Given the description of an element on the screen output the (x, y) to click on. 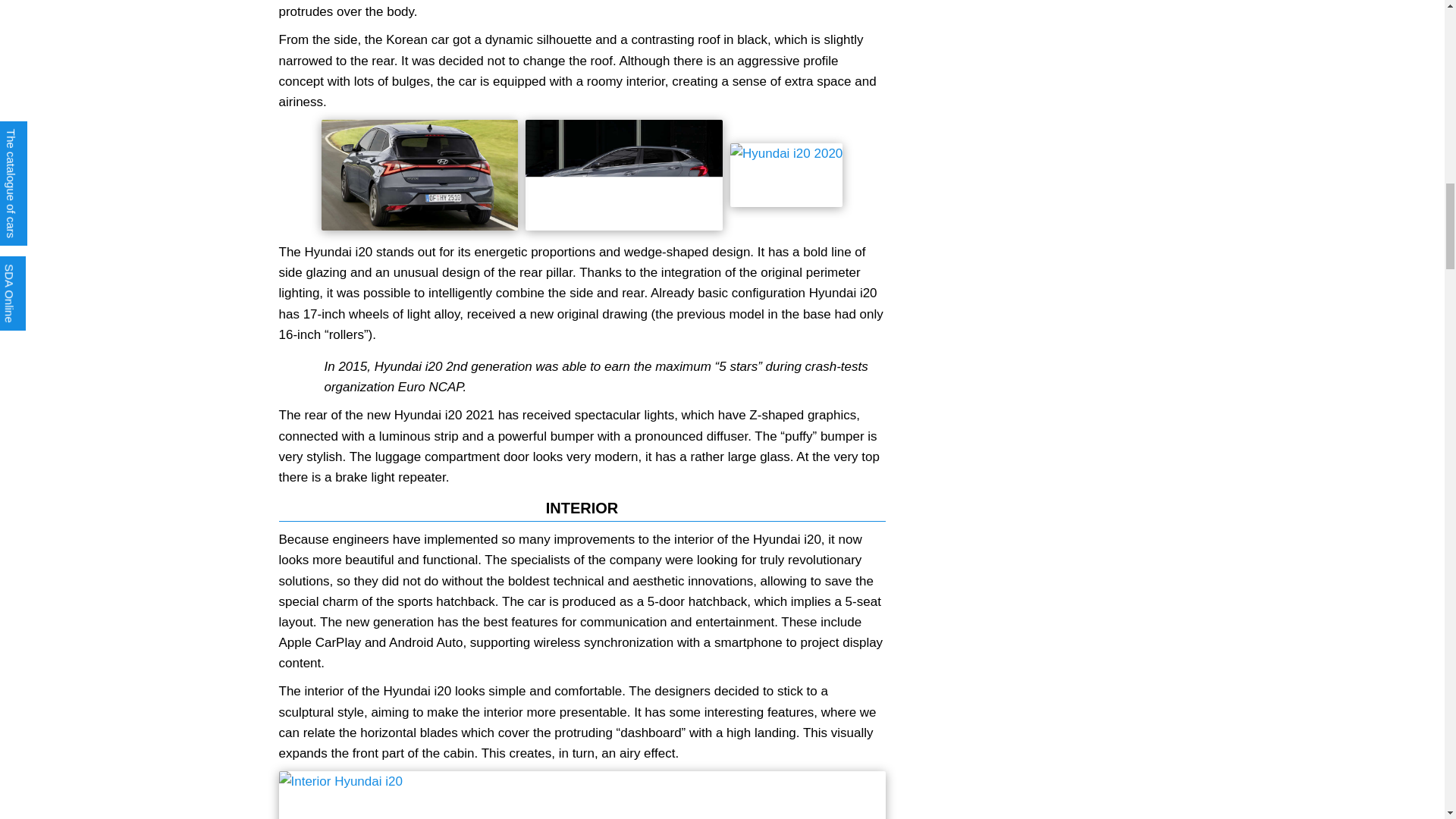
Hyundai i20 (419, 174)
Hyundai i20 (786, 174)
Hyundai i20 (623, 174)
Hyundai i20 (582, 795)
